Given the description of an element on the screen output the (x, y) to click on. 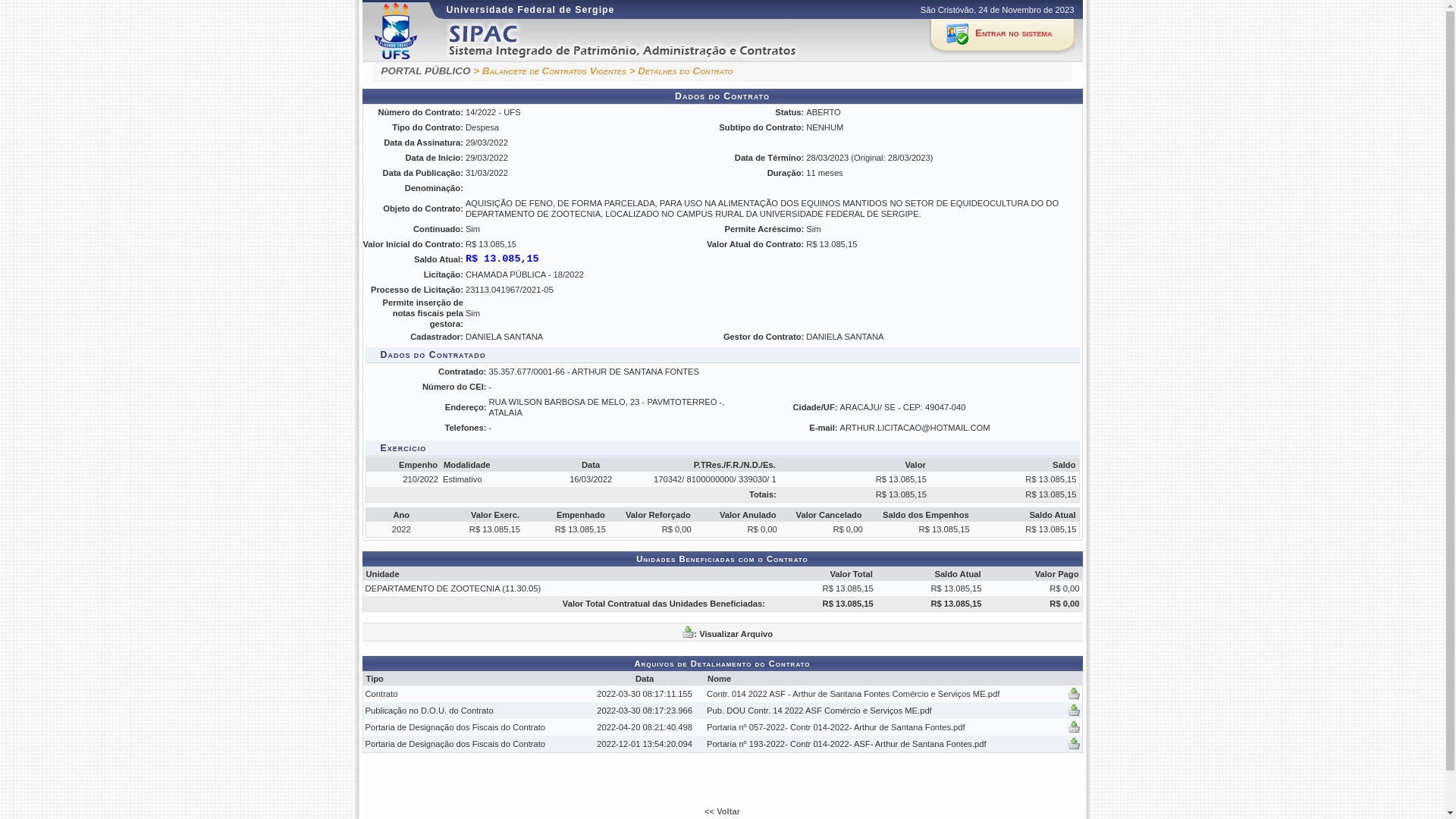
Visualizar Element type: hover (1073, 696)
Visualizar Element type: hover (1073, 746)
Visualizar Arquivo Element type: hover (1073, 727)
<< Voltar Element type: text (722, 810)
Visualizar Element type: hover (1073, 729)
Visualizar Arquivo Element type: hover (1073, 710)
Visualizar Arquivo Element type: hover (1073, 743)
Entrar no sistema Element type: text (1001, 35)
> Balancete de Contratos Vigentes Element type: text (549, 70)
Visualizar Arquivo Element type: hover (1073, 693)
Visualizar Element type: hover (1073, 713)
